Given the description of an element on the screen output the (x, y) to click on. 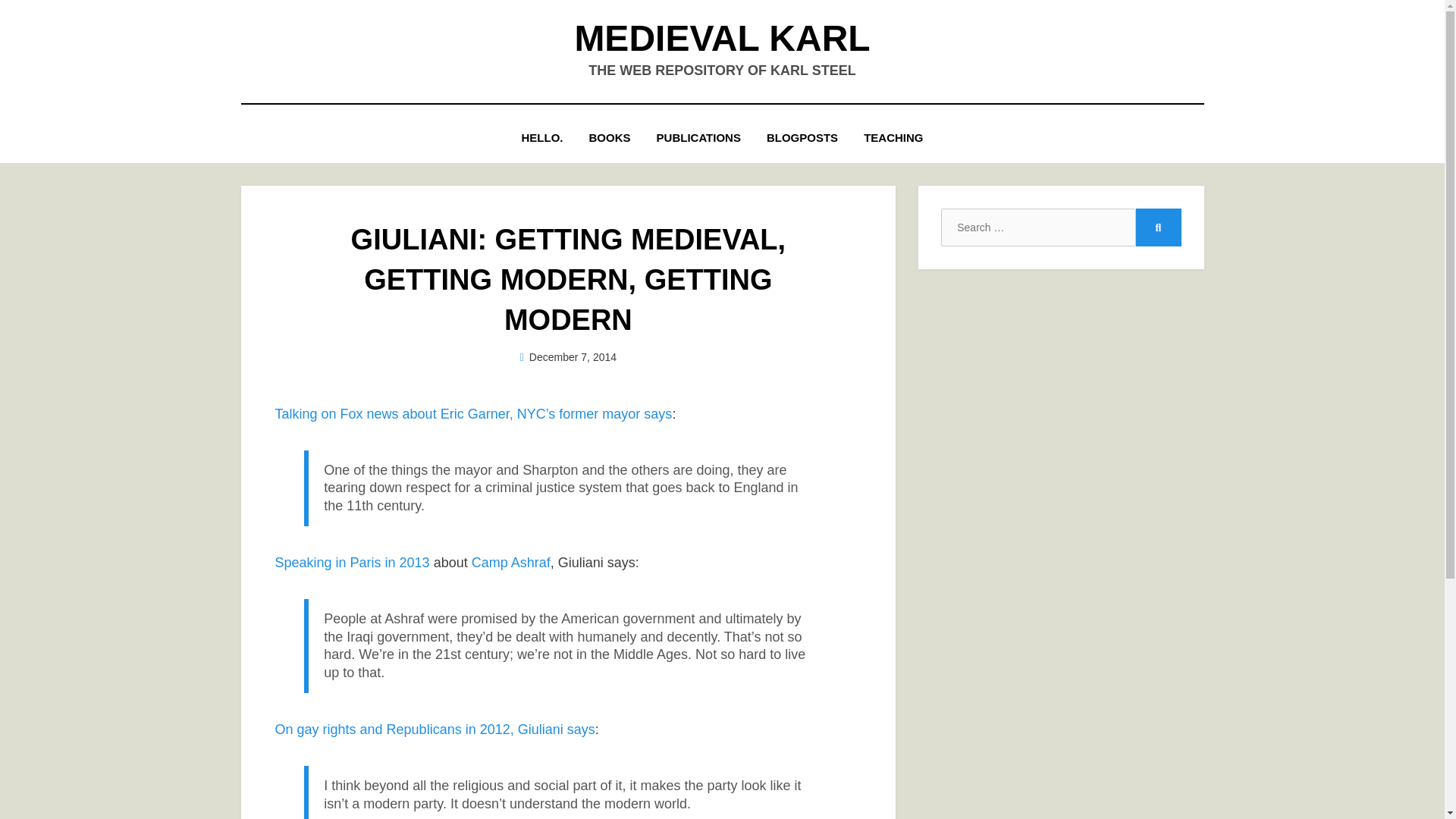
Search for: (1037, 227)
December 7, 2014 (567, 357)
Camp Ashraf (510, 562)
medievalkarl (573, 357)
On gay rights and Republicans in 2012, Giuliani says (434, 729)
Search (1157, 227)
BOOKS (609, 137)
Medieval Karl (721, 38)
BLOGPOSTS (802, 137)
TEACHING (893, 137)
